Given the description of an element on the screen output the (x, y) to click on. 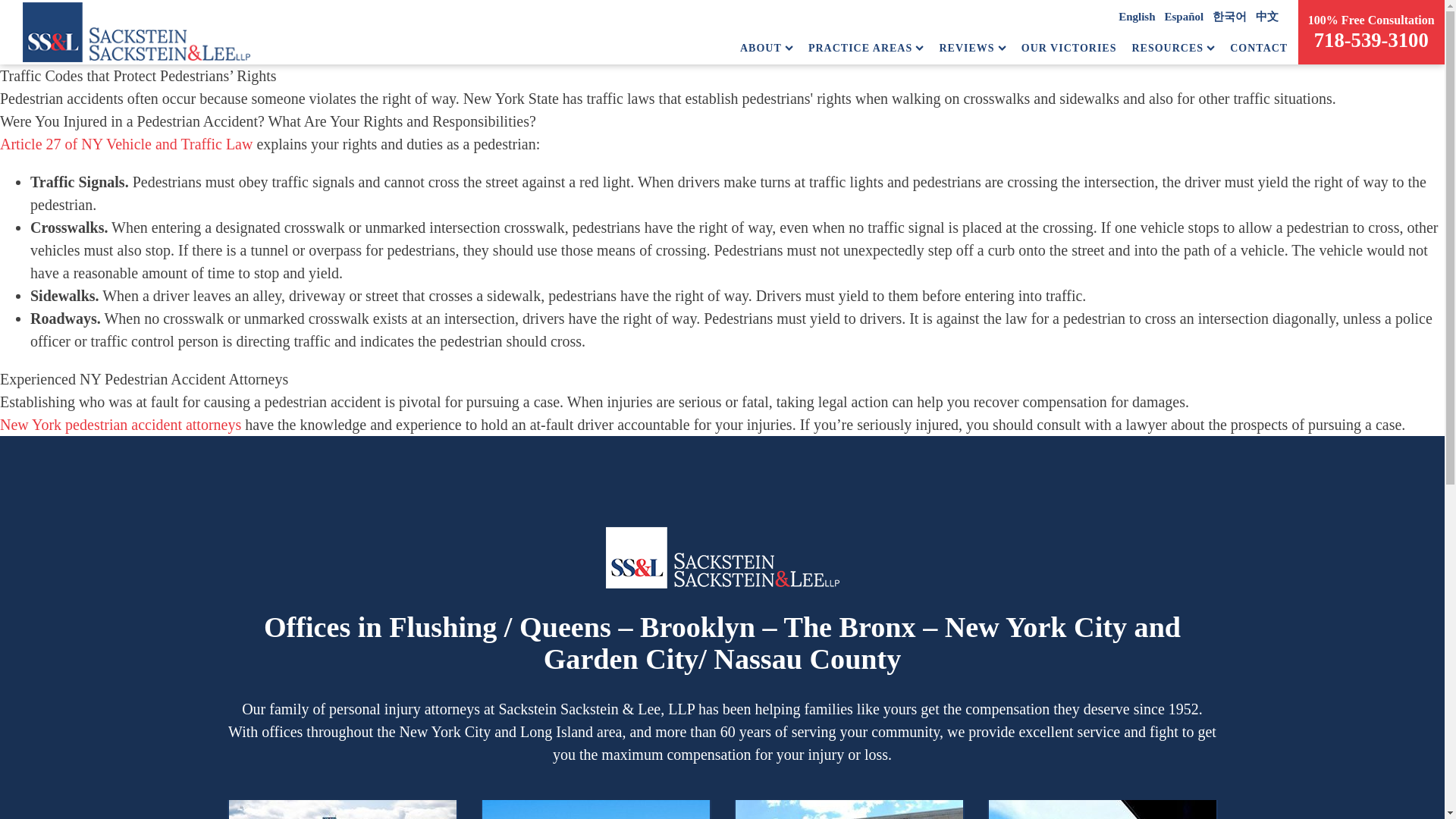
CONTACT (1258, 48)
RESOURCES (1172, 48)
REVIEWS (972, 48)
718-539-3100 (1371, 40)
PRACTICE AREAS (866, 48)
ABOUT (766, 48)
English (1136, 16)
OUR VICTORIES (1069, 48)
